Given the description of an element on the screen output the (x, y) to click on. 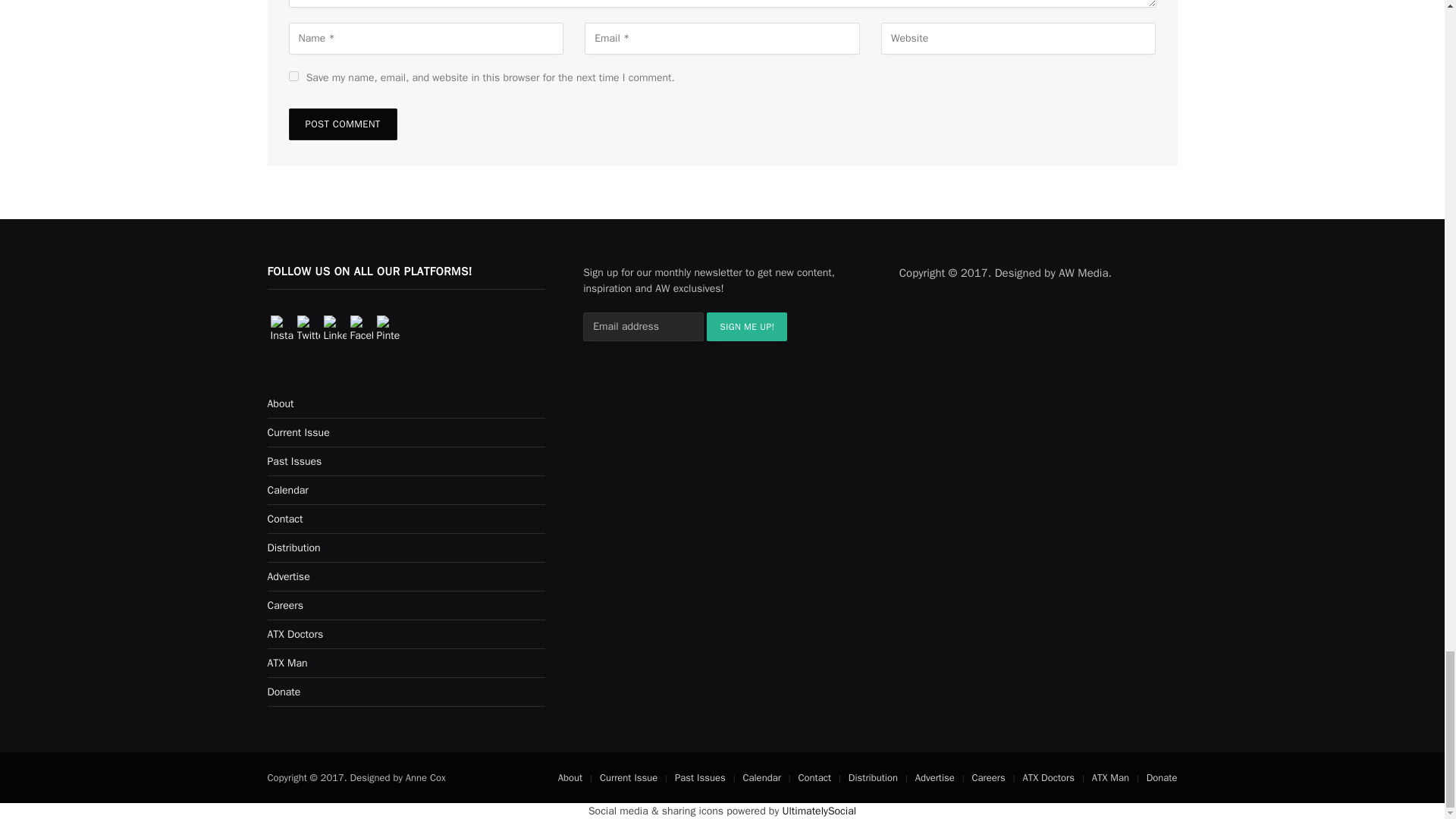
Post Comment (342, 124)
Sign me up! (746, 326)
yes (293, 76)
